Given the description of an element on the screen output the (x, y) to click on. 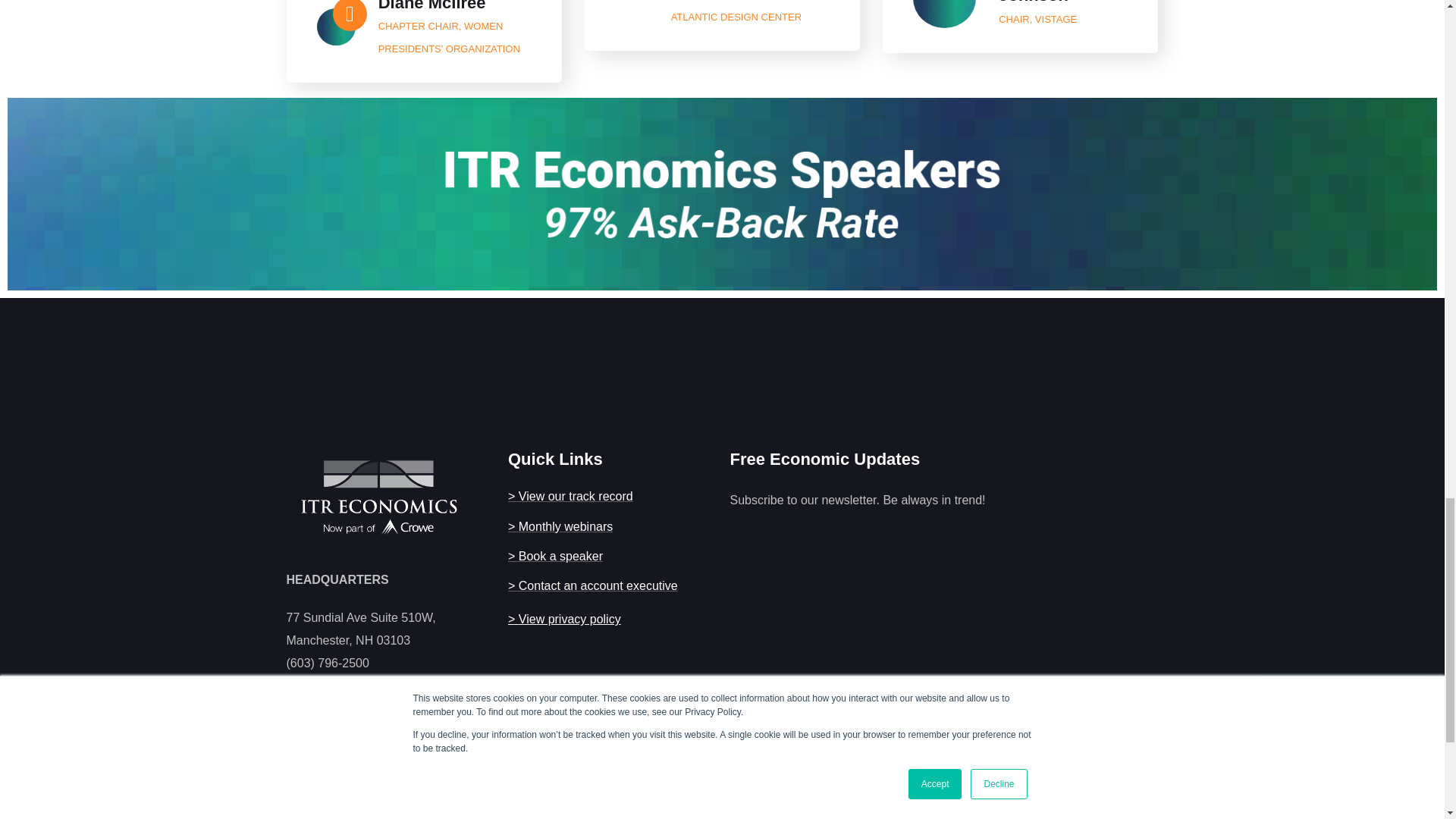
Form 0 (932, 681)
